Given the description of an element on the screen output the (x, y) to click on. 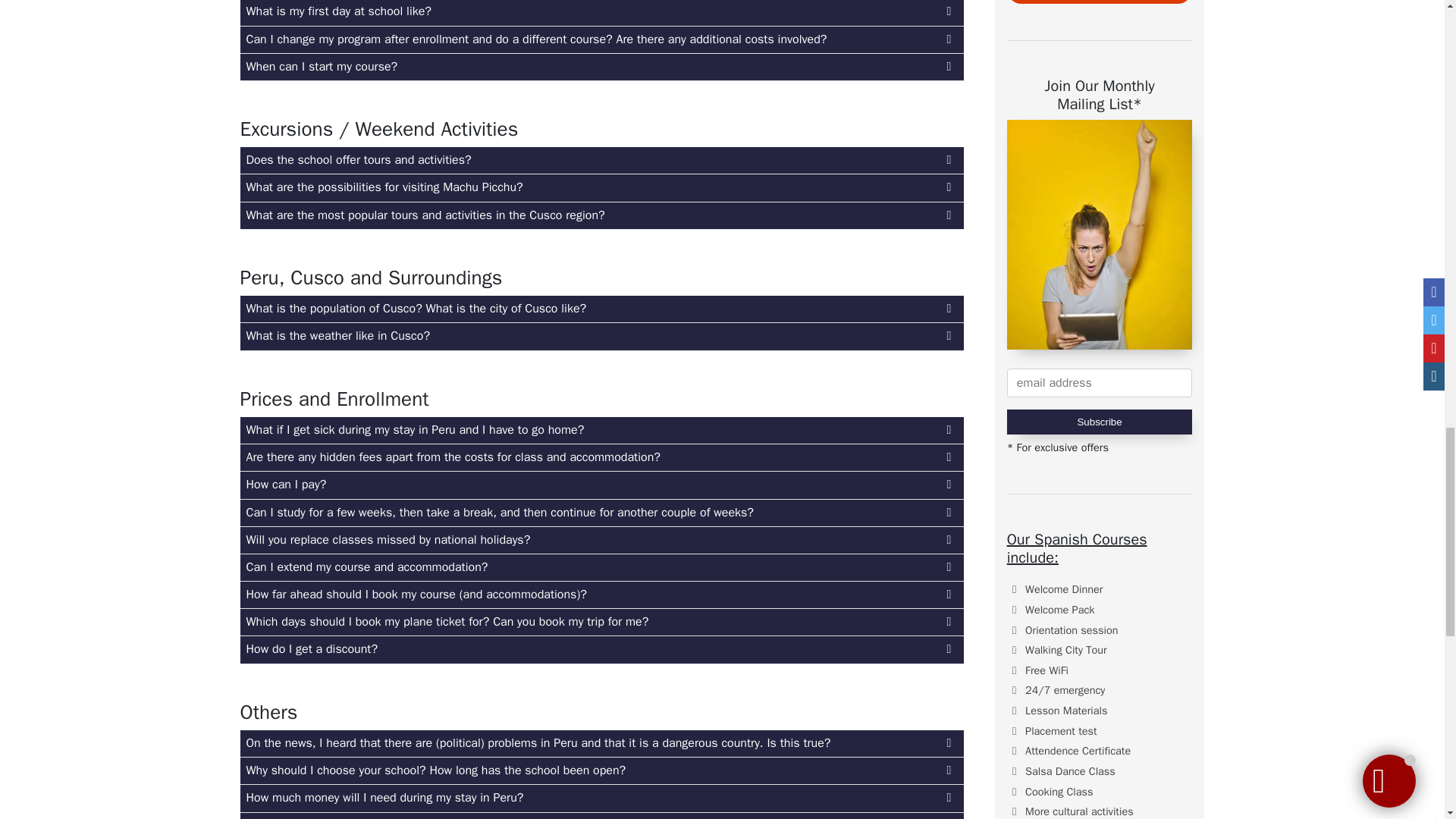
Subscribe (1099, 421)
